Given the description of an element on the screen output the (x, y) to click on. 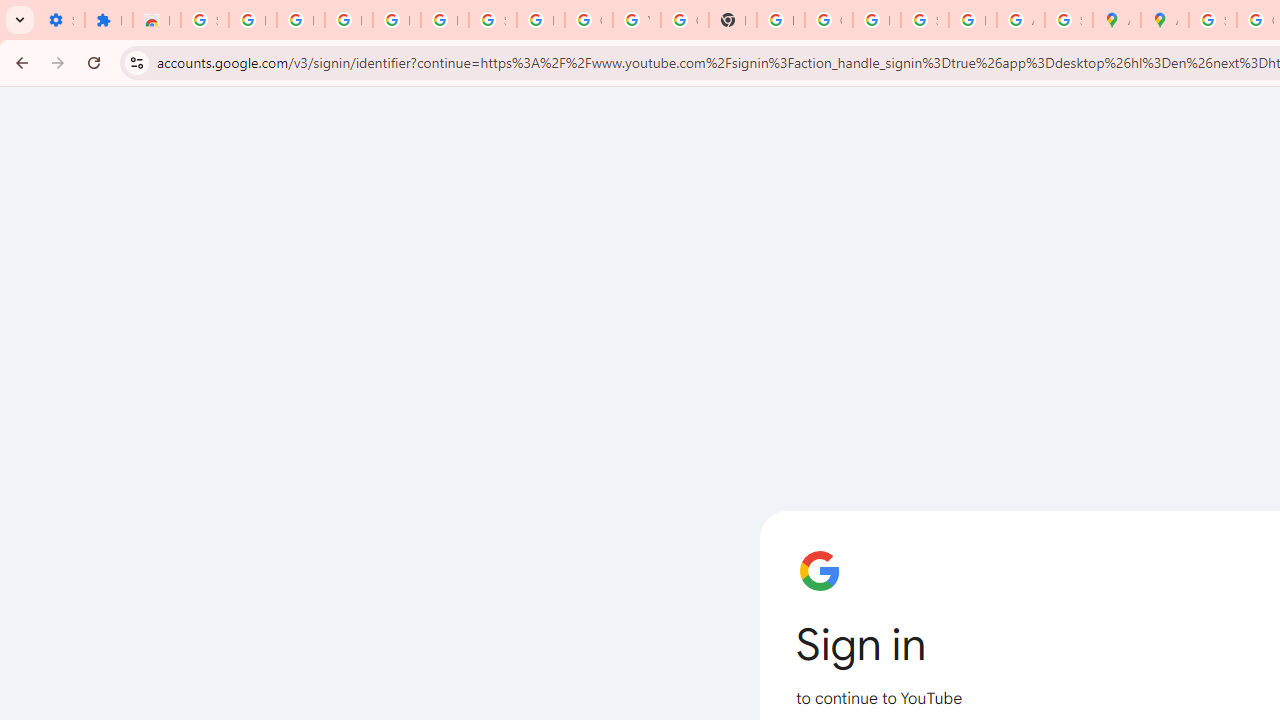
https://scholar.google.com/ (780, 20)
